Given the description of an element on the screen output the (x, y) to click on. 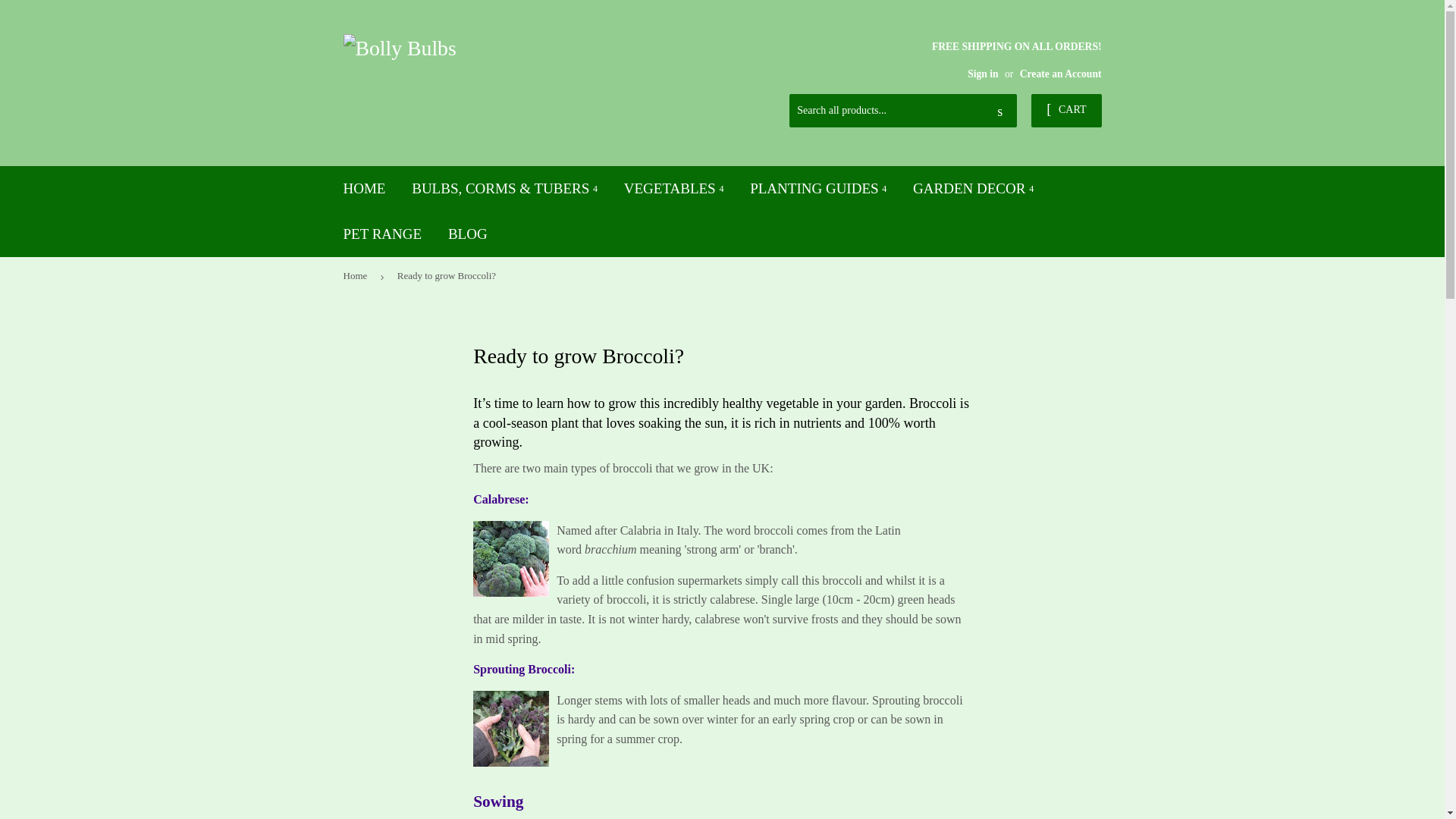
CART (1065, 110)
Search (999, 111)
Create an Account (1061, 73)
Sign in (982, 73)
FREE SHIPPING ON ALL ORDERS! (1016, 59)
